Given the description of an element on the screen output the (x, y) to click on. 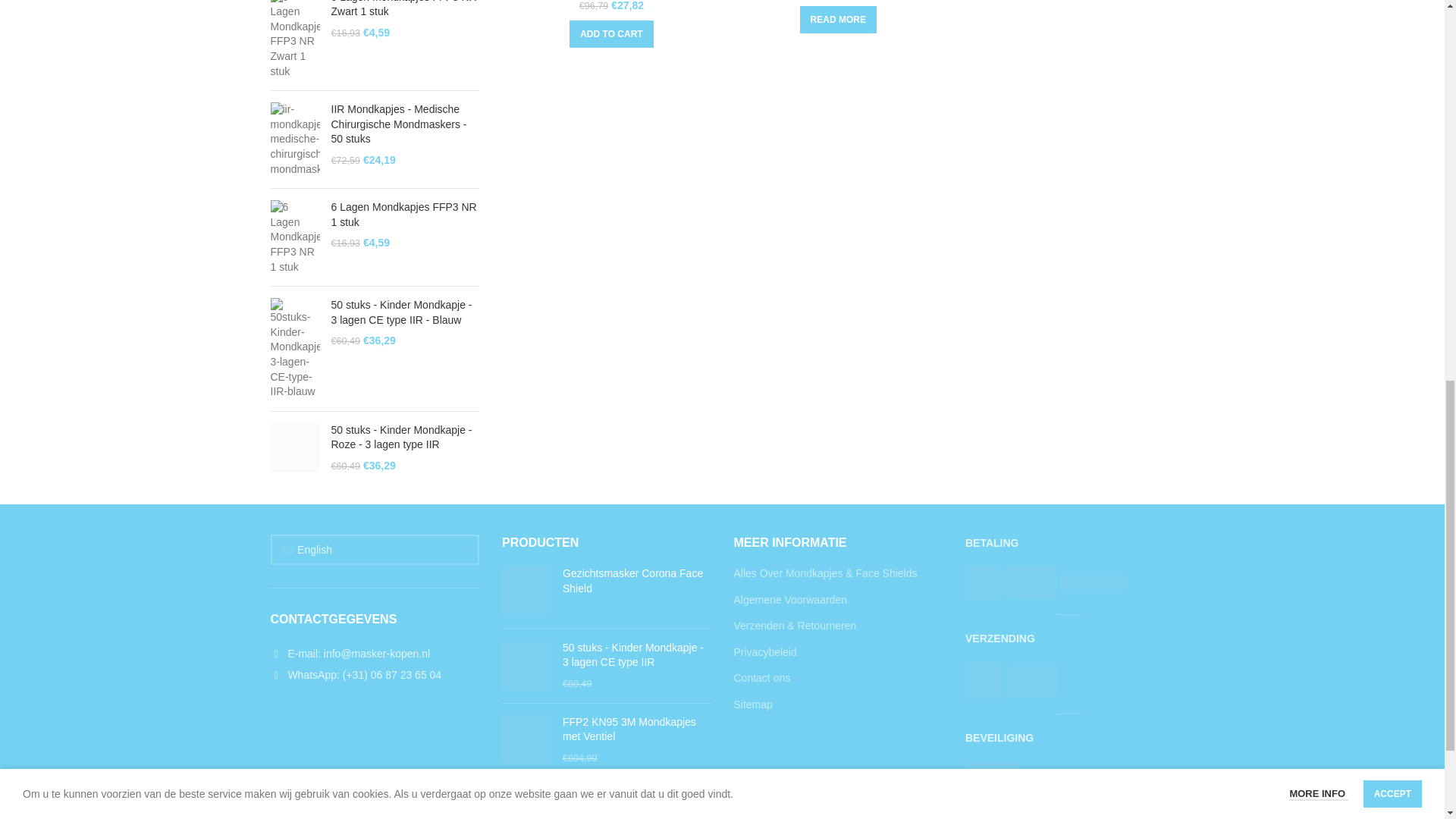
6 Lagen Mondkapjes FFP3 NR 1 stuk (404, 214)
6 Lagen Mondkapjes FFP3 NR Zwart 1 stuk (404, 9)
50 stuks - Kinder Mondkapje - 3 lagen CE type IIR - Blauw (404, 312)
50 stuks - Kinder Mondkapje - Roze - 3 lagen type IIR (404, 437)
6 Lagen Mondkapjes FFP3 NR Zwart 1 stuk (404, 9)
6 Lagen Mondkapjes FFP3 NR 1 stuk (404, 214)
